Given the description of an element on the screen output the (x, y) to click on. 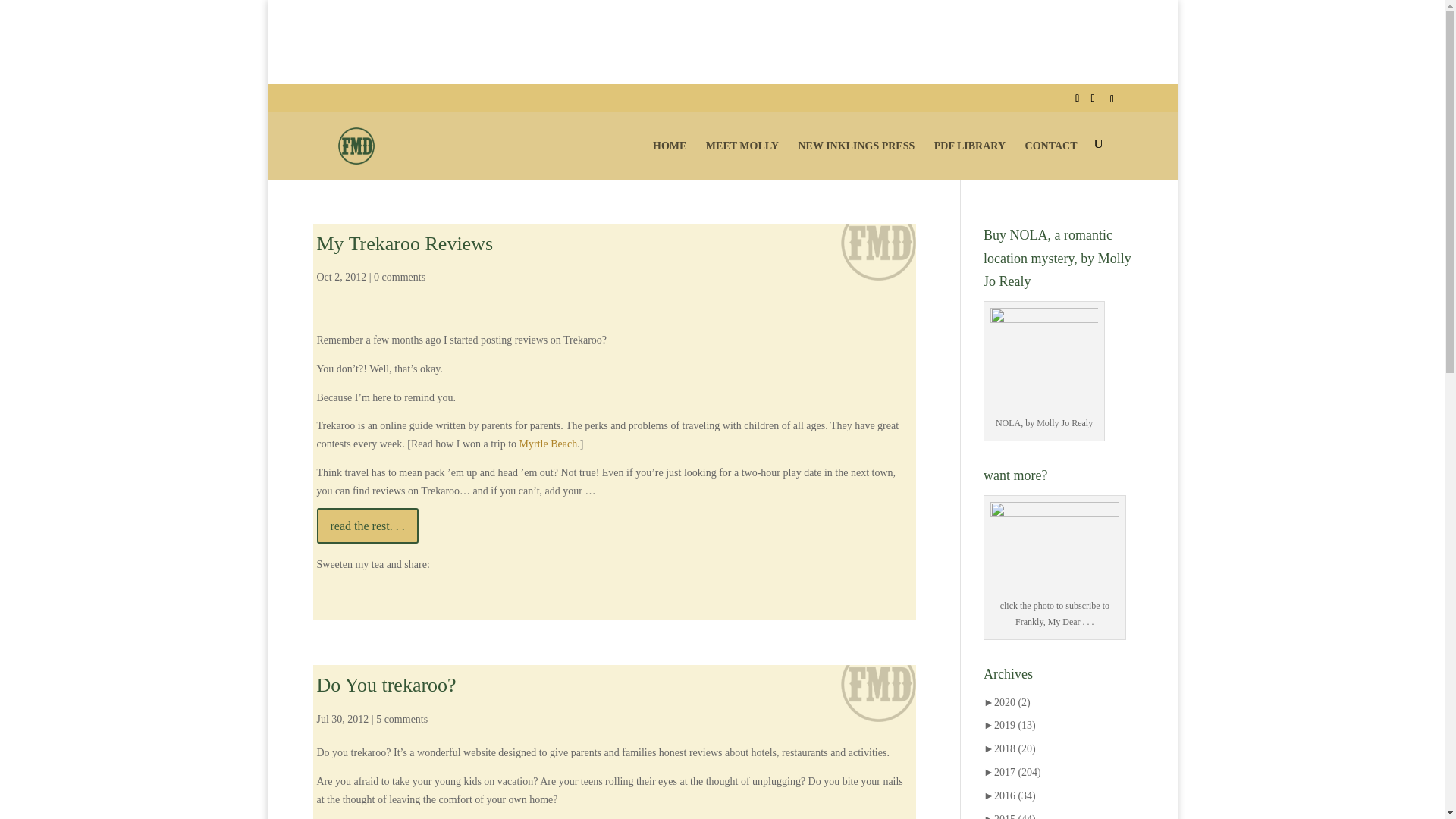
PDF LIBRARY (970, 157)
My Trekaroo Reviews (405, 243)
read the rest. . . (368, 525)
5 comments (401, 718)
CONTACT (1051, 157)
Myrtle Beach is Calling (548, 443)
Myrtle Beach (548, 443)
0 comments (399, 276)
Do You trekaroo? (387, 685)
NEW INKLINGS PRESS (855, 157)
MEET MOLLY (742, 157)
